Given the description of an element on the screen output the (x, y) to click on. 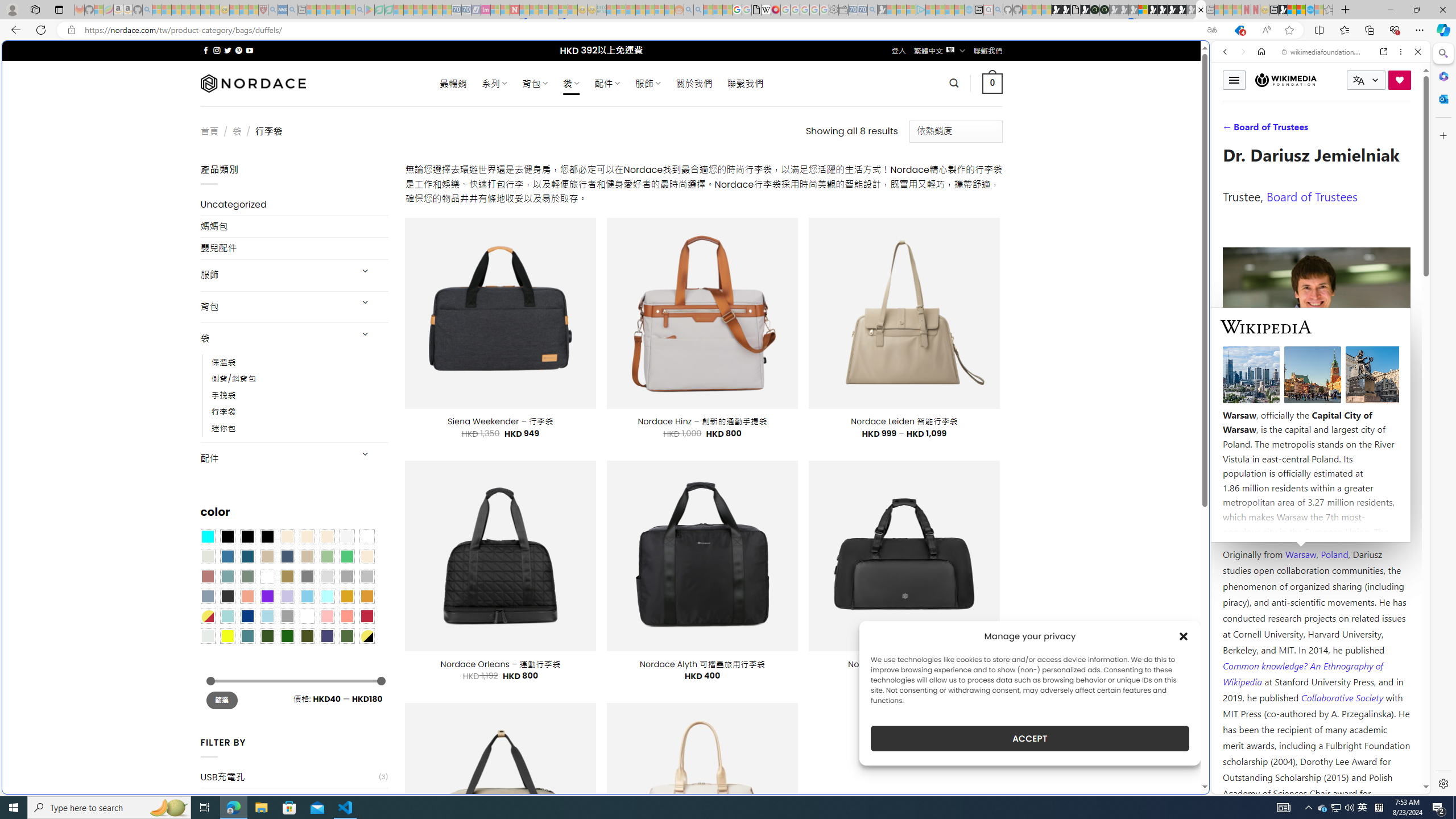
Harvard University (1259, 526)
